Given the description of an element on the screen output the (x, y) to click on. 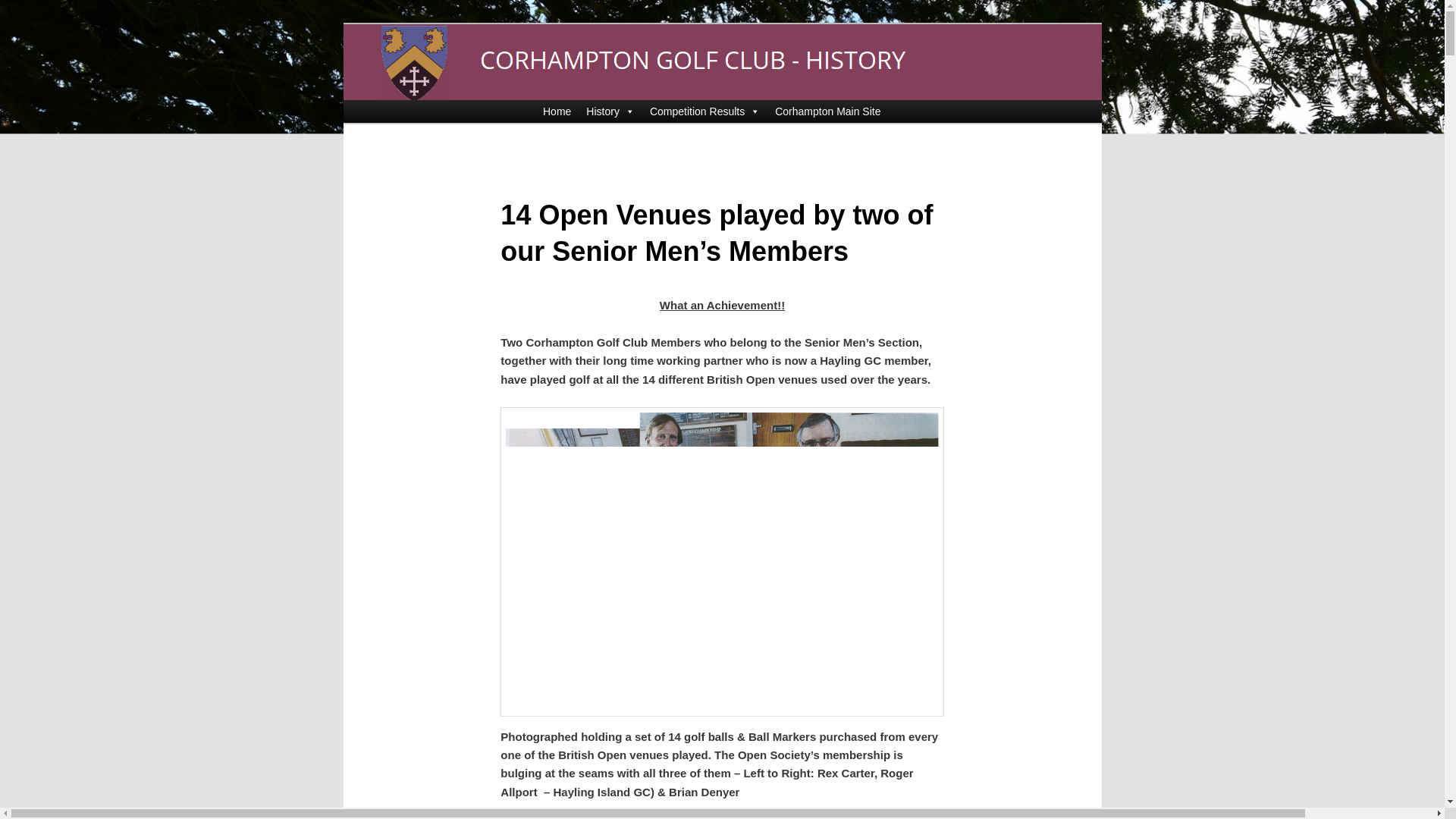
Corhampton Main Site (827, 110)
Home (556, 110)
Competition Results (704, 110)
Corhampton Golf Club History (564, 78)
History (610, 110)
